Given the description of an element on the screen output the (x, y) to click on. 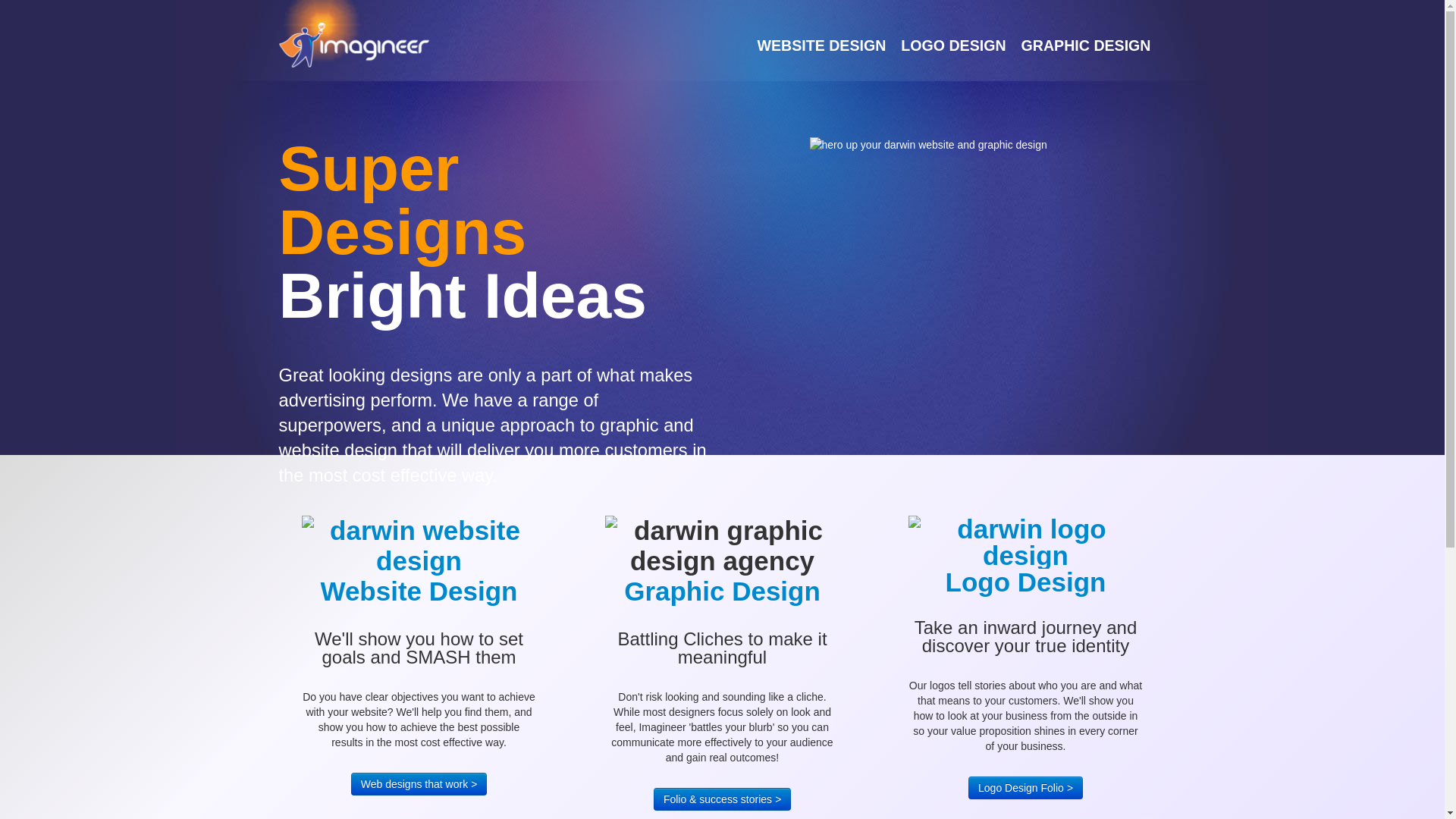
GRAPHIC DESIGN Element type: text (1086, 45)
Logo Design Folio > Element type: text (1025, 787)
Web designs that work > Element type: text (418, 783)
WEBSITE DESIGN Element type: text (820, 45)
Graphic Design Element type: text (722, 590)
Logo Design Element type: text (1025, 555)
Folio & success stories > Element type: text (721, 798)
Website Design Element type: text (418, 560)
LOGO DESIGN Element type: text (952, 45)
